Given the description of an element on the screen output the (x, y) to click on. 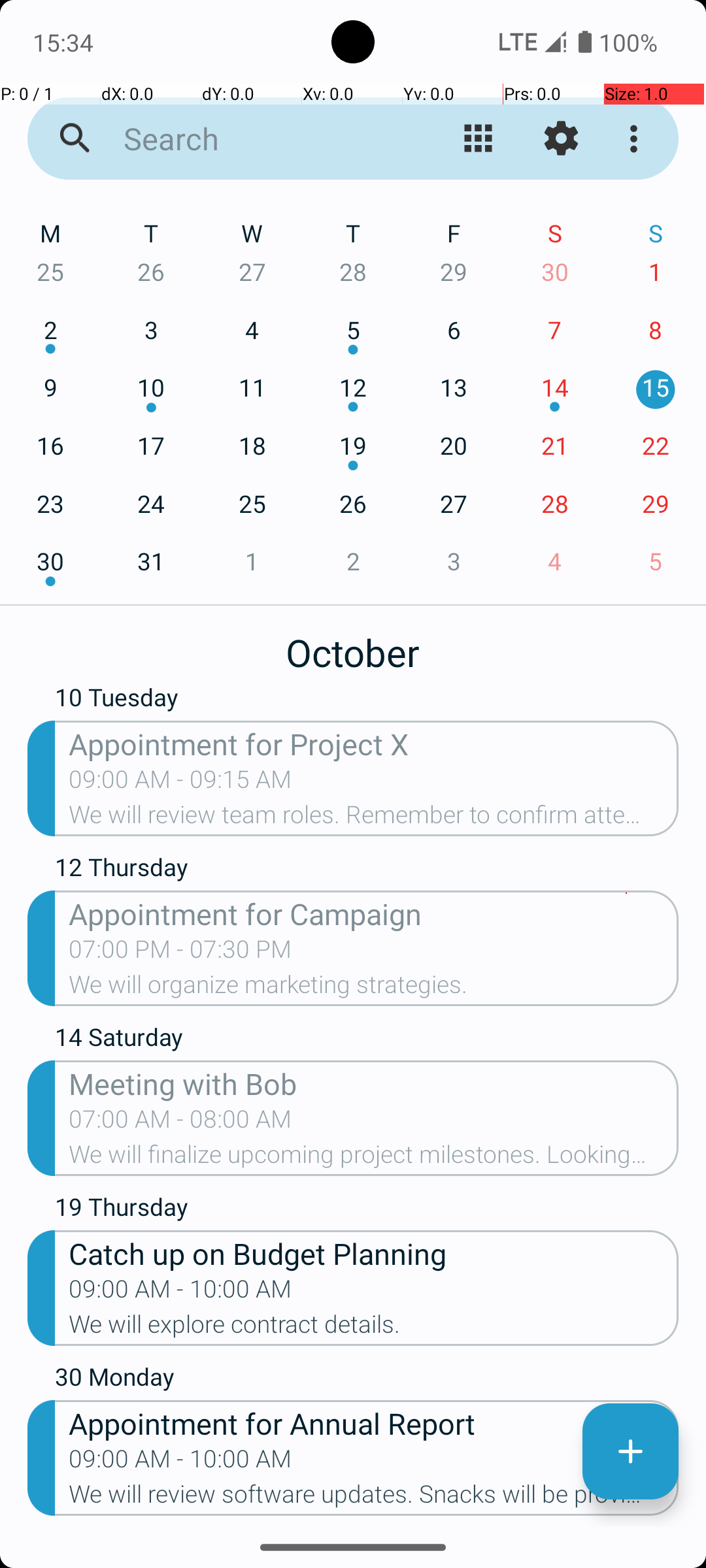
10 Tuesday Element type: android.widget.TextView (366, 702)
12 Thursday Element type: android.widget.TextView (366, 869)
14 Saturday Element type: android.widget.TextView (366, 1039)
19 Thursday Element type: android.widget.TextView (366, 1209)
30 Monday Element type: android.widget.TextView (366, 1379)
Appointment for Project X Element type: android.widget.TextView (373, 742)
09:00 AM - 09:15 AM Element type: android.widget.TextView (179, 782)
We will review team roles. Remember to confirm attendance. Element type: android.widget.TextView (373, 818)
Appointment for Campaign Element type: android.widget.TextView (373, 912)
07:00 PM - 07:30 PM Element type: android.widget.TextView (179, 952)
We will organize marketing strategies. Element type: android.widget.TextView (373, 988)
Meeting with Bob Element type: android.widget.TextView (373, 1082)
07:00 AM - 08:00 AM Element type: android.widget.TextView (179, 1122)
We will finalize upcoming project milestones. Looking forward to productive discussions. Element type: android.widget.TextView (373, 1158)
Catch up on Budget Planning Element type: android.widget.TextView (373, 1252)
09:00 AM - 10:00 AM Element type: android.widget.TextView (179, 1292)
We will explore contract details. Element type: android.widget.TextView (373, 1327)
Appointment for Annual Report Element type: android.widget.TextView (373, 1422)
We will review software updates. Snacks will be provided. Element type: android.widget.TextView (373, 1497)
